Given the description of an element on the screen output the (x, y) to click on. 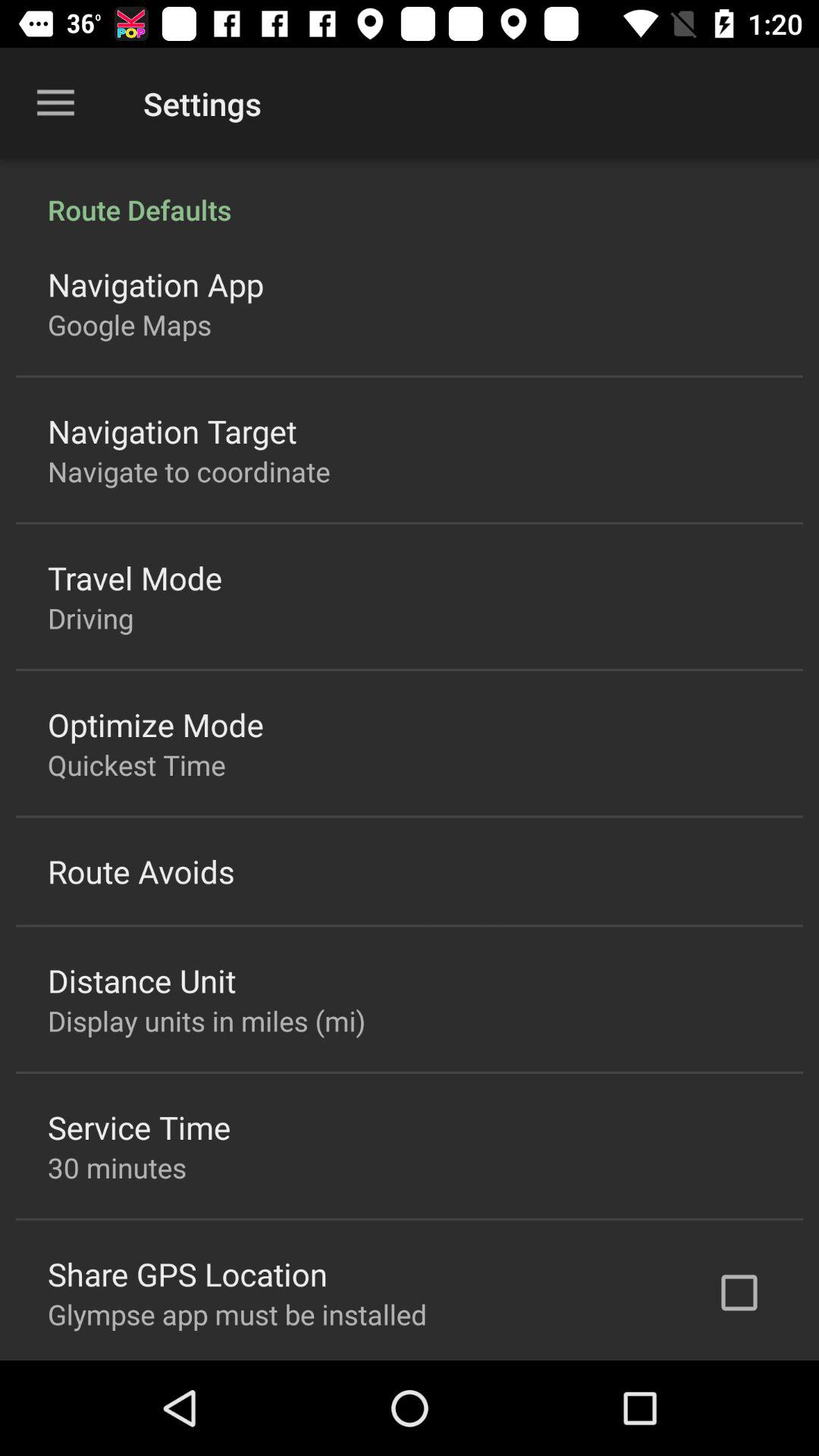
swipe to the optimize mode (155, 724)
